Given the description of an element on the screen output the (x, y) to click on. 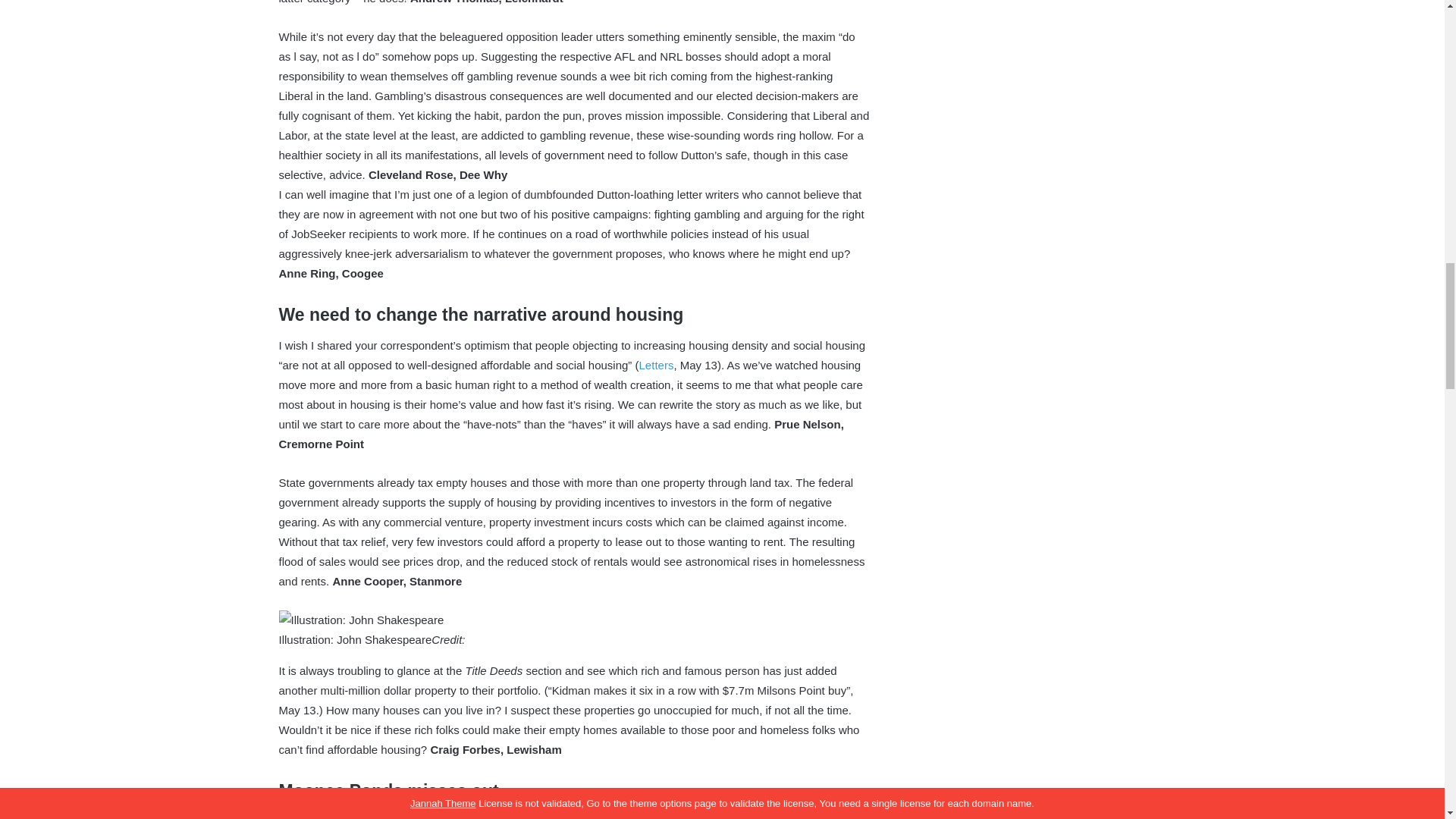
Letters (656, 364)
